Given the description of an element on the screen output the (x, y) to click on. 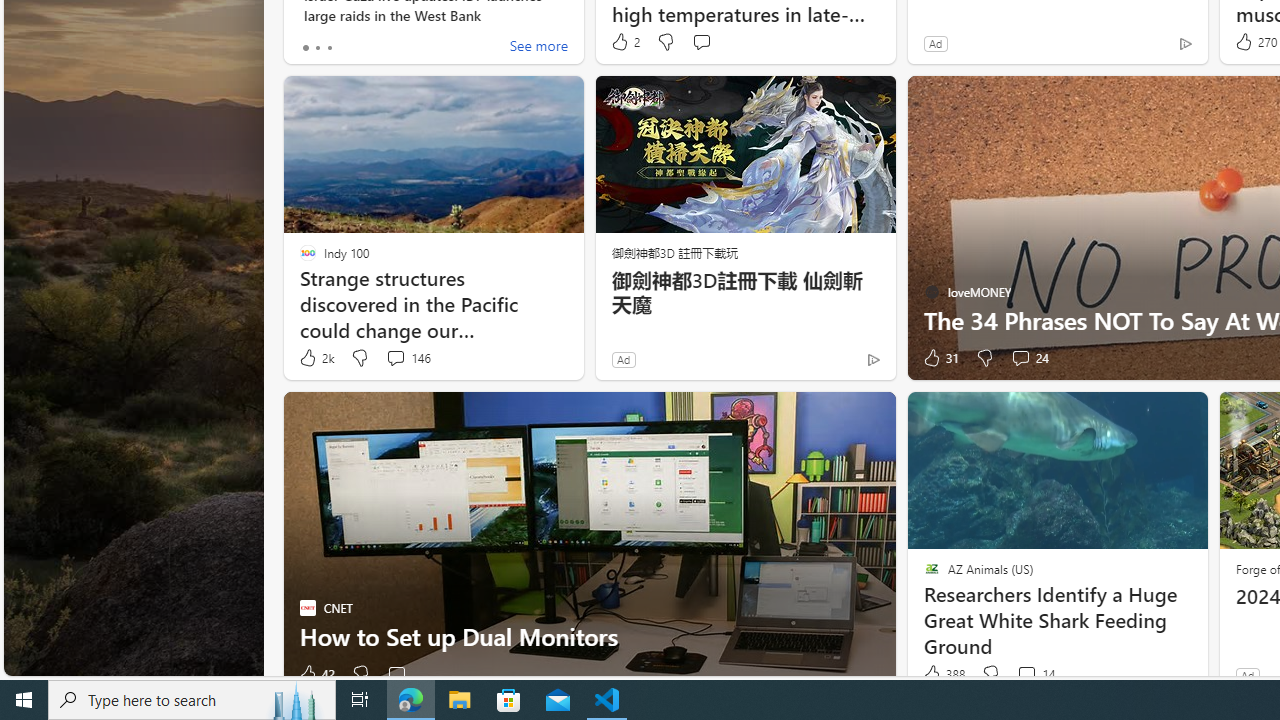
Dislike (989, 674)
Ad Choice (873, 359)
388 Like (942, 674)
42 Like (316, 674)
View comments 146 Comment (395, 357)
Start the conversation (395, 674)
2 Like (624, 42)
